Given the description of an element on the screen output the (x, y) to click on. 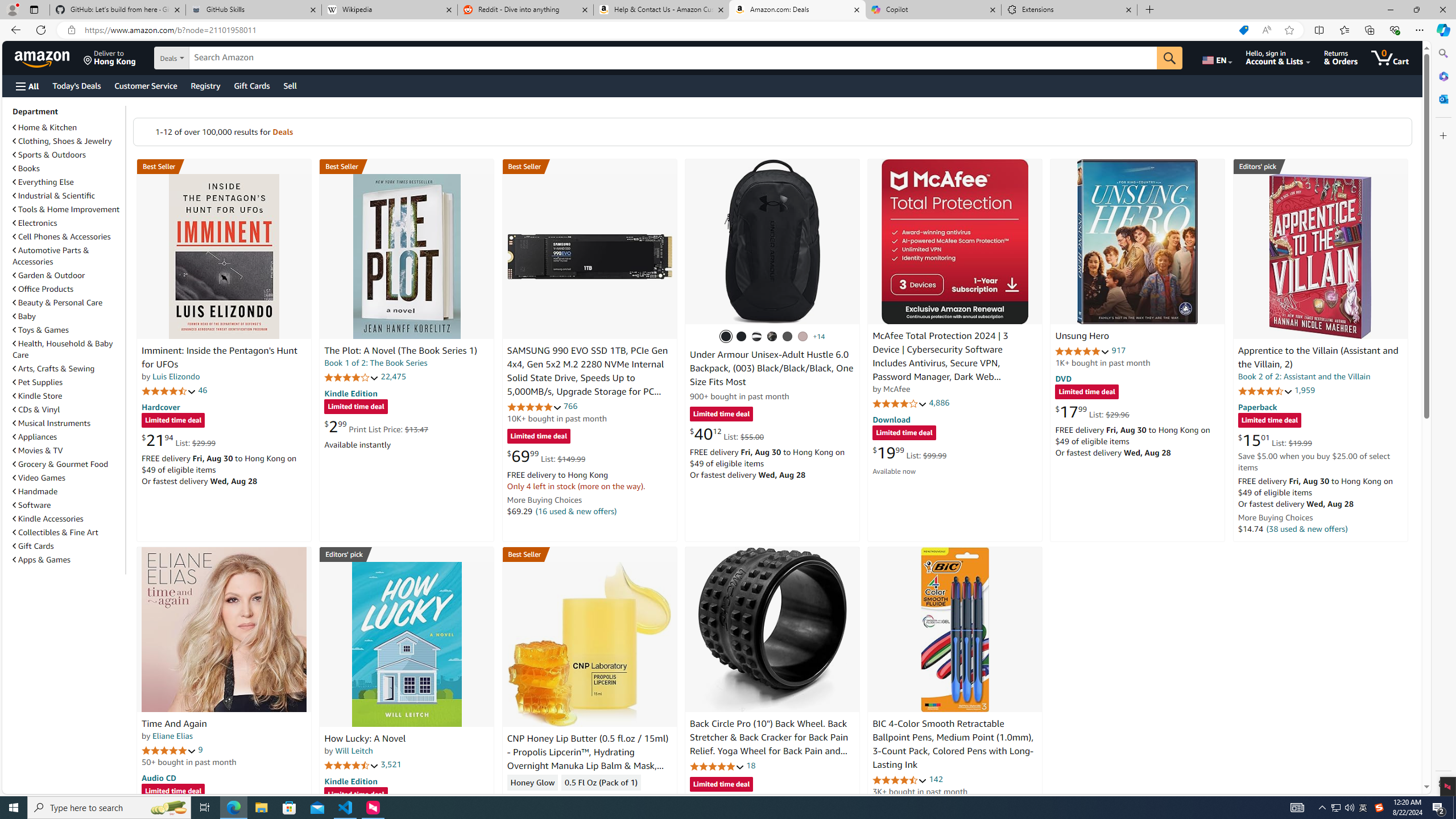
Clothing, Shoes & Jewelry (67, 140)
$40.12 List: $55.00 (726, 433)
Automotive Parts & Accessories (50, 255)
(003) Black / Black / Black (725, 336)
46 (203, 390)
917 (1117, 350)
Today's Deals (76, 85)
Luis Elizondo (175, 376)
Everything Else (67, 181)
Cell Phones & Accessories (67, 236)
Grocery & Gourmet Food (61, 463)
$69.99 List: $149.99 (545, 455)
